Given the description of an element on the screen output the (x, y) to click on. 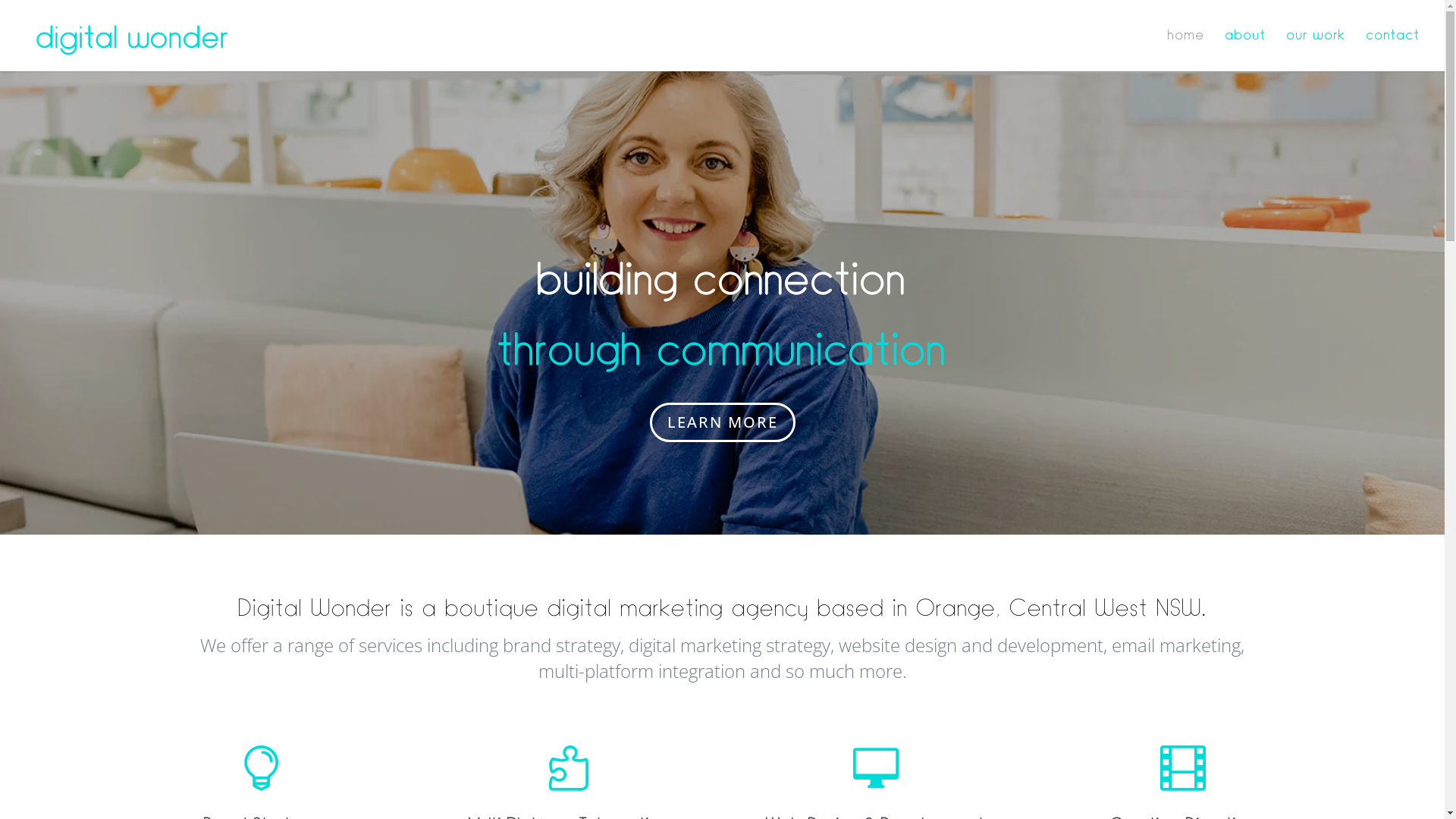
LEARN MORE Element type: text (721, 422)
home Element type: text (1185, 50)
about Element type: text (1245, 50)
contact Element type: text (1393, 50)
our work Element type: text (1316, 50)
